Given the description of an element on the screen output the (x, y) to click on. 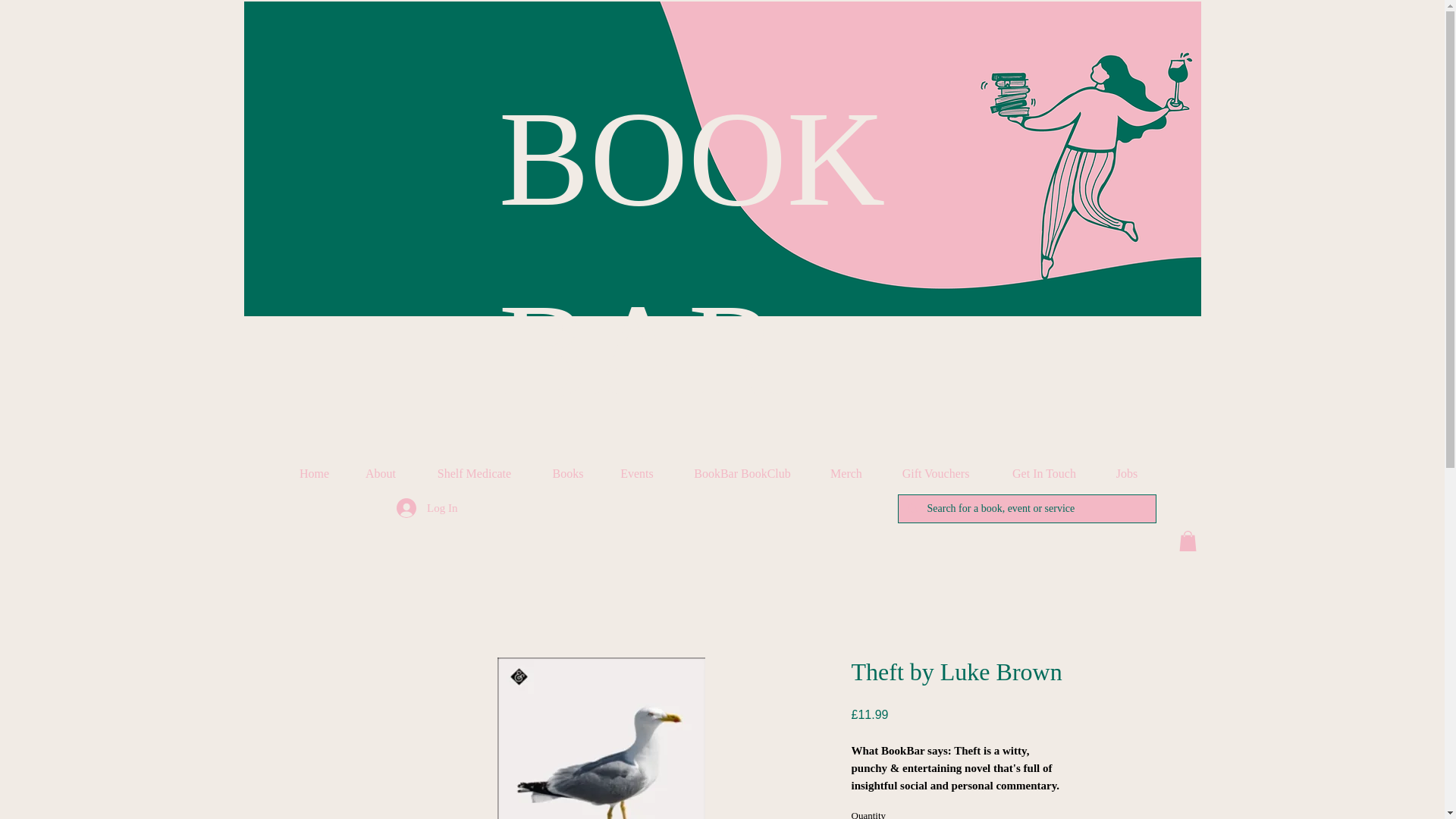
Shelf Medicate (473, 474)
Books (567, 474)
BookBar BookClub (741, 474)
Get In Touch (1044, 474)
Log In (426, 507)
Home (314, 474)
Jobs (1126, 474)
Gift Vouchers (935, 474)
Merch (846, 474)
Events (637, 474)
About (380, 474)
